Given the description of an element on the screen output the (x, y) to click on. 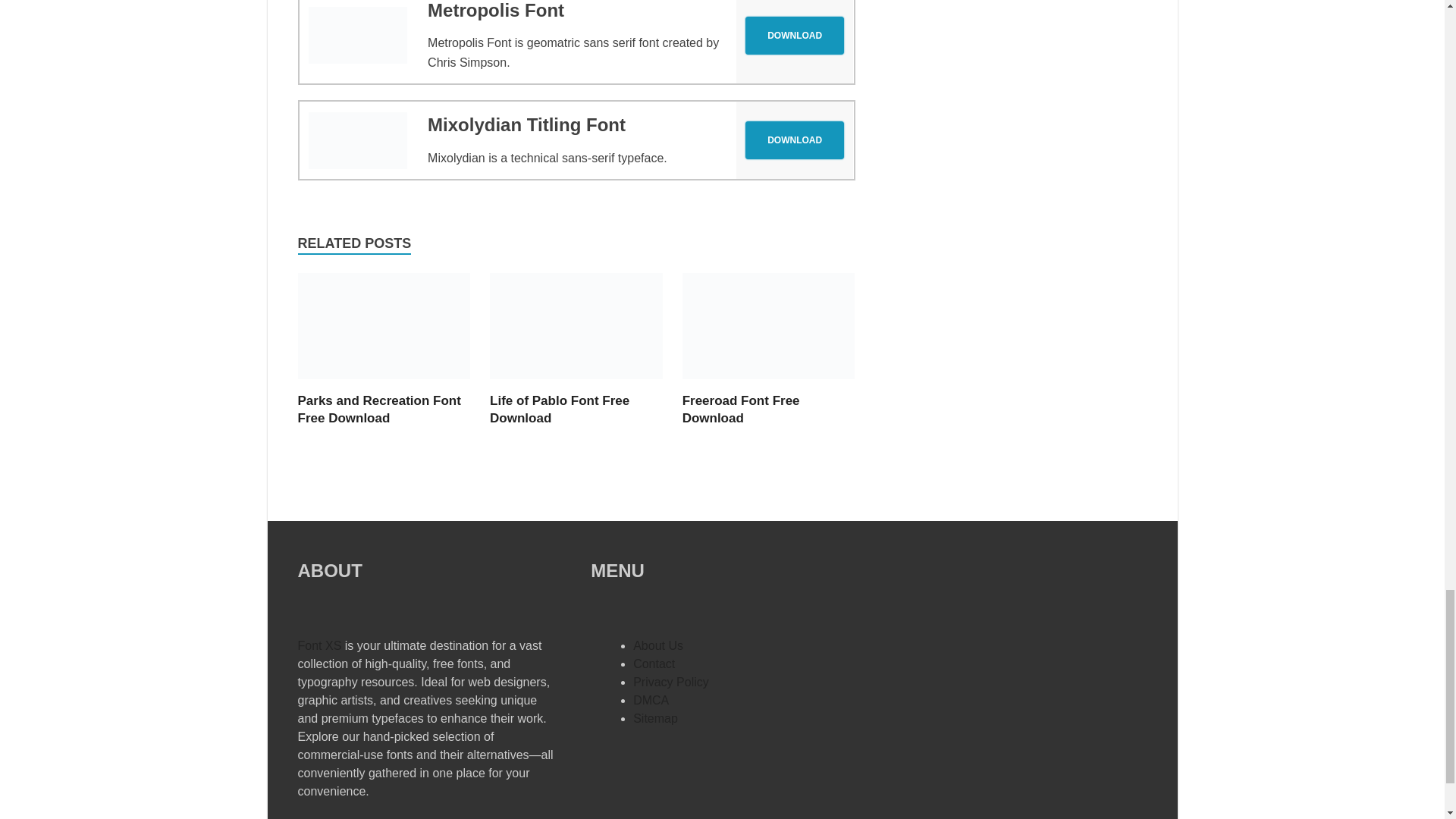
Life of Pablo Font Free Download (558, 409)
DOWNLOAD (794, 35)
Parks and Recreation Font Free Download (378, 409)
Parks and Recreation Font Free Download (378, 409)
Freeroad Font Free Download (740, 409)
Life of Pablo Font Free Download (558, 409)
DOWNLOAD (794, 140)
DOWNLOAD (794, 35)
Life of Pablo Font Free Download (575, 382)
Freeroad Font Free Download (740, 409)
